Given the description of an element on the screen output the (x, y) to click on. 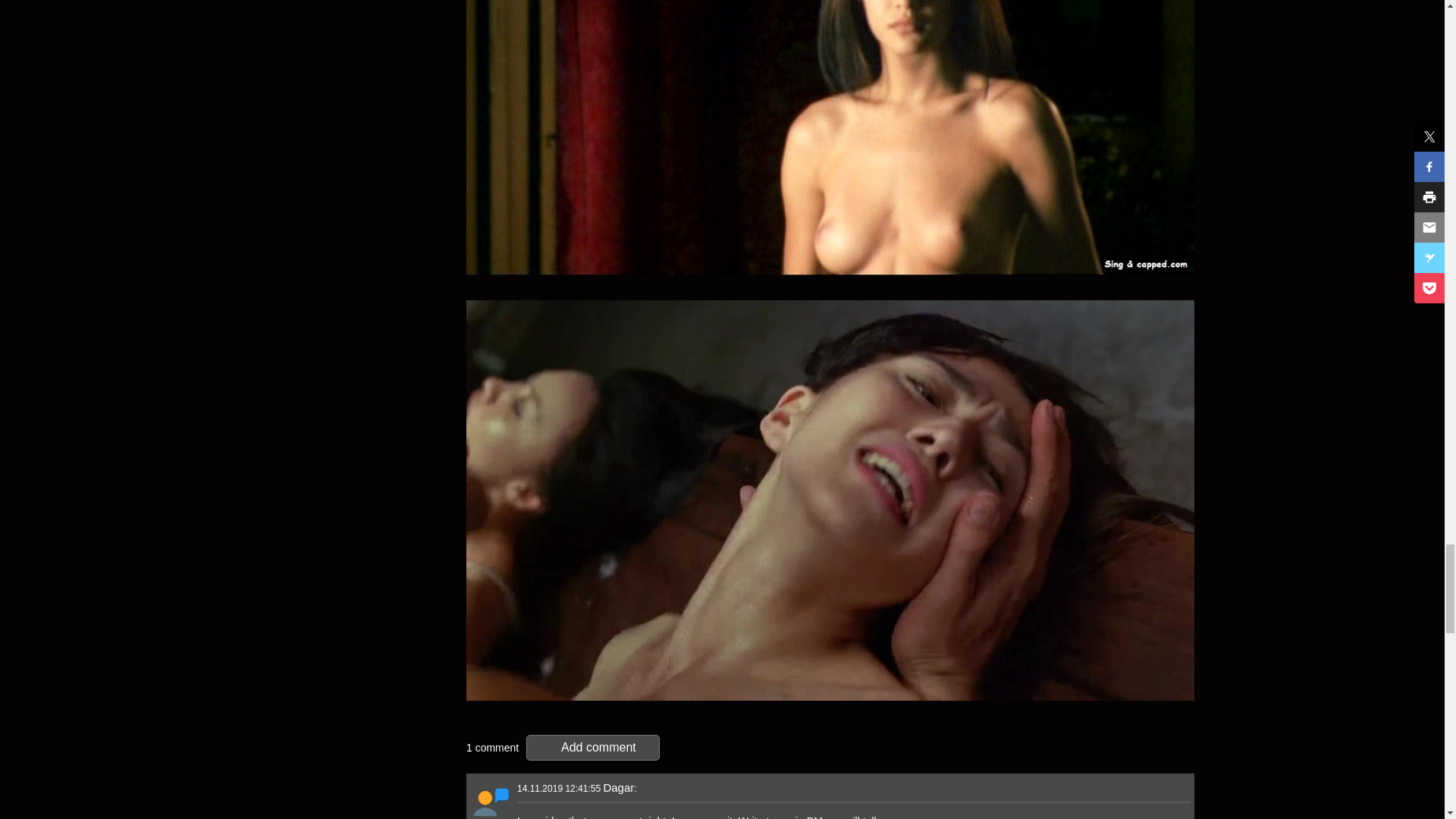
Add comment (592, 747)
